Given the description of an element on the screen output the (x, y) to click on. 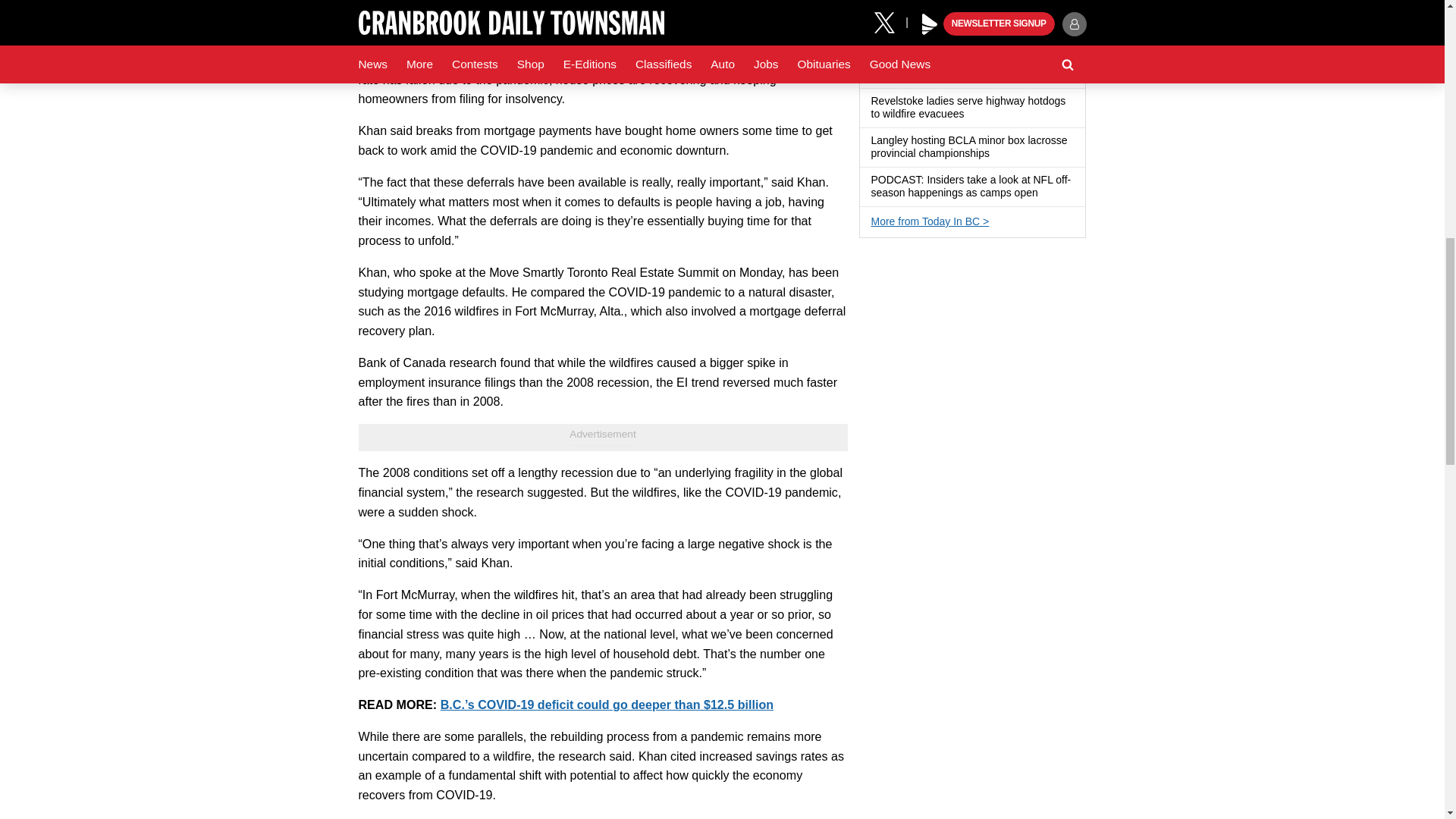
Has a gallery (972, 114)
Has a gallery (998, 153)
